Given the description of an element on the screen output the (x, y) to click on. 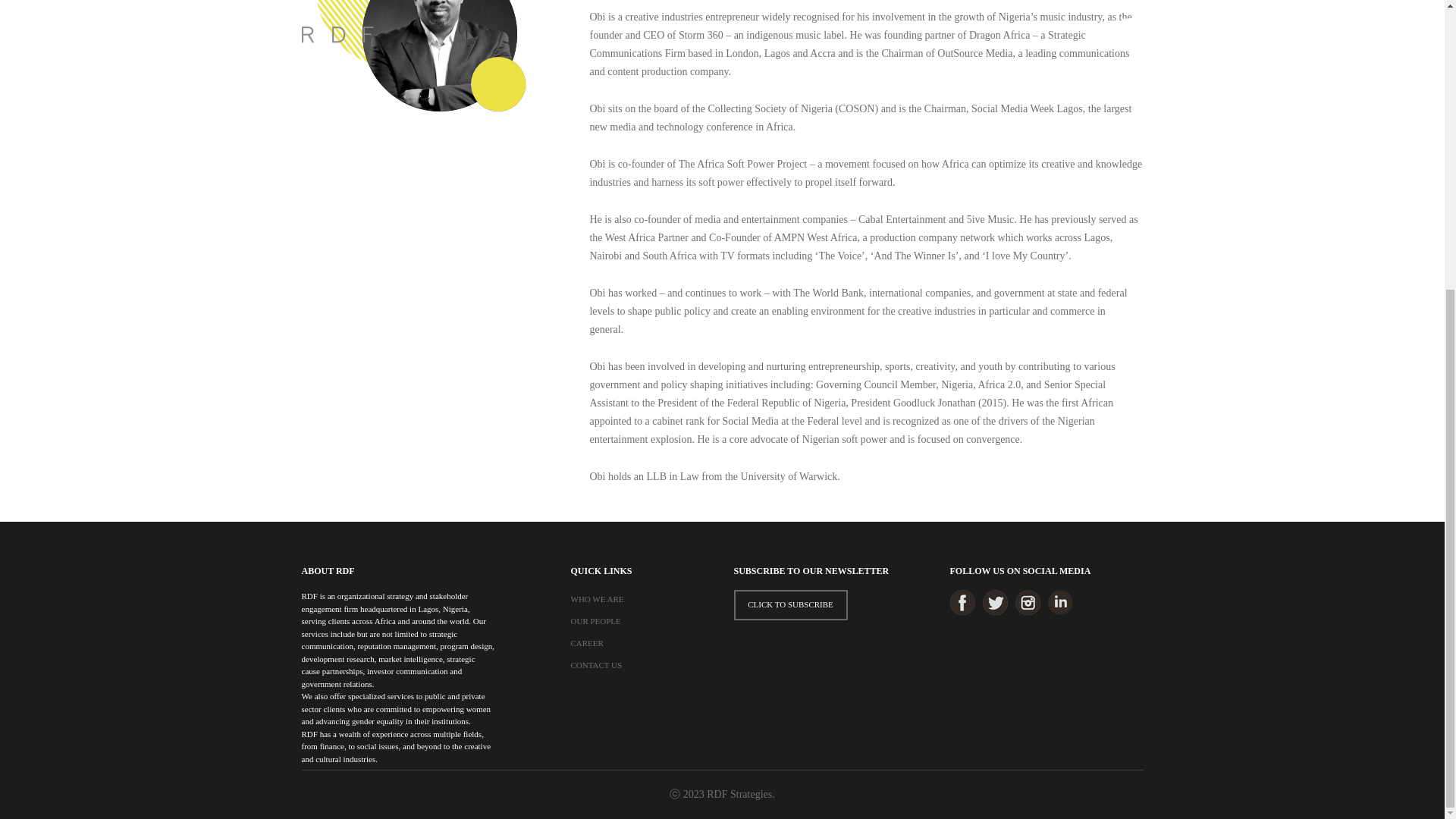
OUR PEOPLE (595, 620)
WHO WE ARE (596, 598)
The Africa Soft Power Project (743, 163)
